Given the description of an element on the screen output the (x, y) to click on. 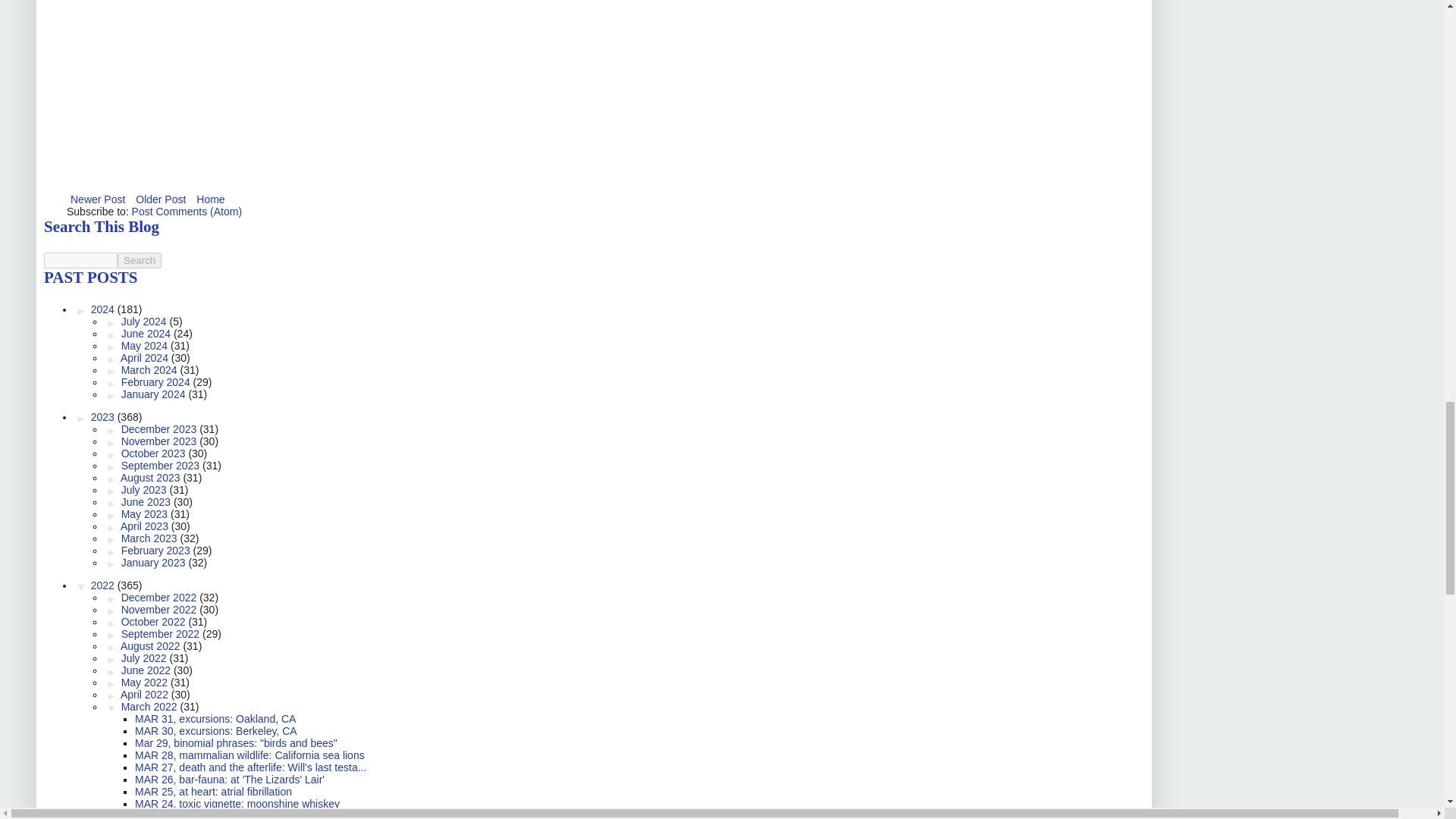
April 2024 (145, 357)
Older Post (160, 199)
Newer Post (97, 199)
June 2024 (146, 333)
January 2024 (154, 394)
July 2024 (145, 321)
Search (139, 260)
May 2024 (145, 345)
December 2023 (160, 428)
February 2024 (156, 381)
search (139, 260)
Home (210, 199)
2024 (103, 309)
Search (139, 260)
2023 (103, 417)
